Given the description of an element on the screen output the (x, y) to click on. 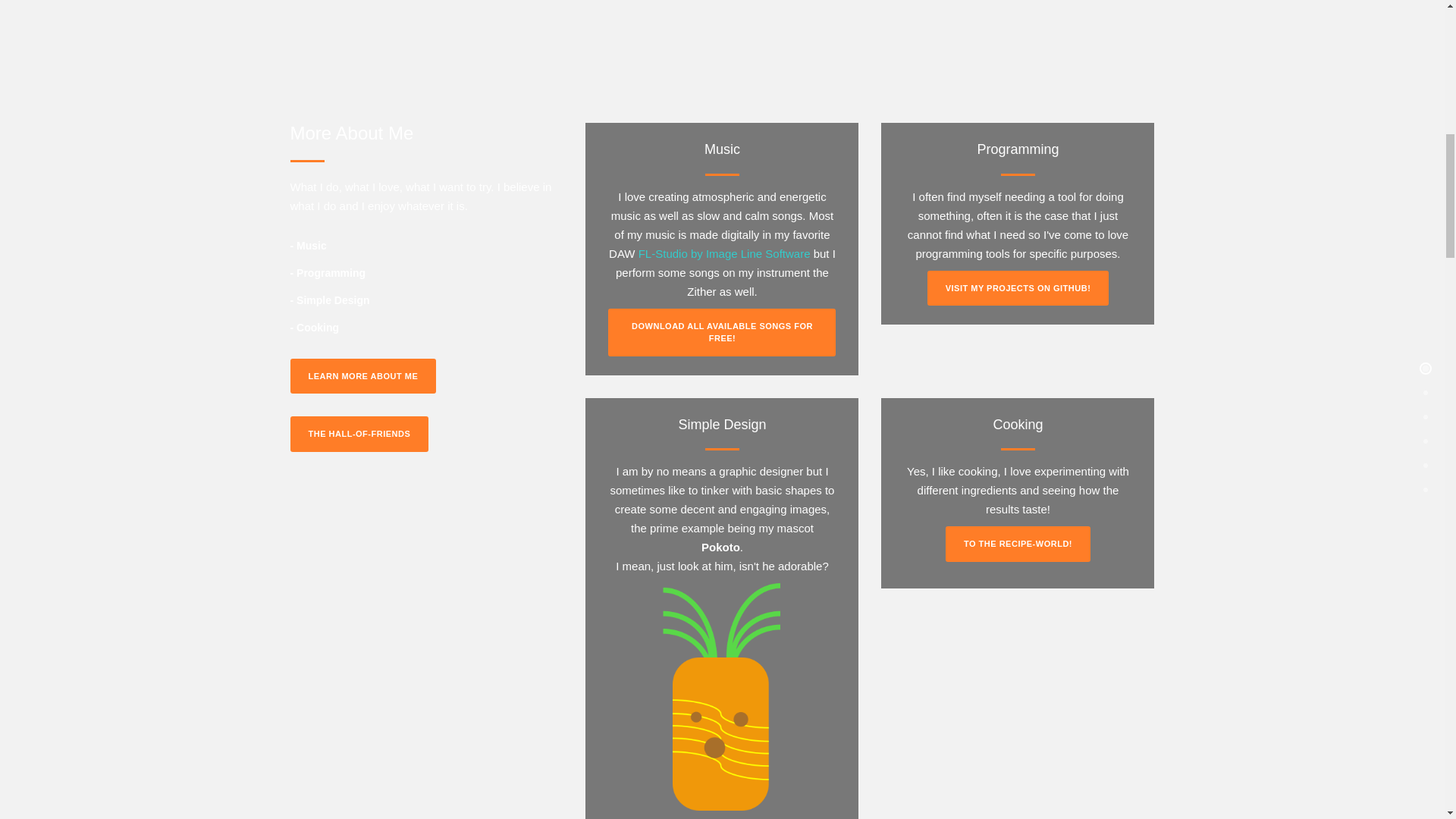
TO THE RECIPE-WORLD! (1017, 543)
THE HALL-OF-FRIENDS (358, 434)
LEARN MORE ABOUT ME (362, 375)
VISIT MY PROJECTS ON GITHUB! (1018, 288)
FL-Studio by Image Line Software (724, 253)
DOWNLOAD ALL AVAILABLE SONGS FOR FREE! (721, 332)
